Given the description of an element on the screen output the (x, y) to click on. 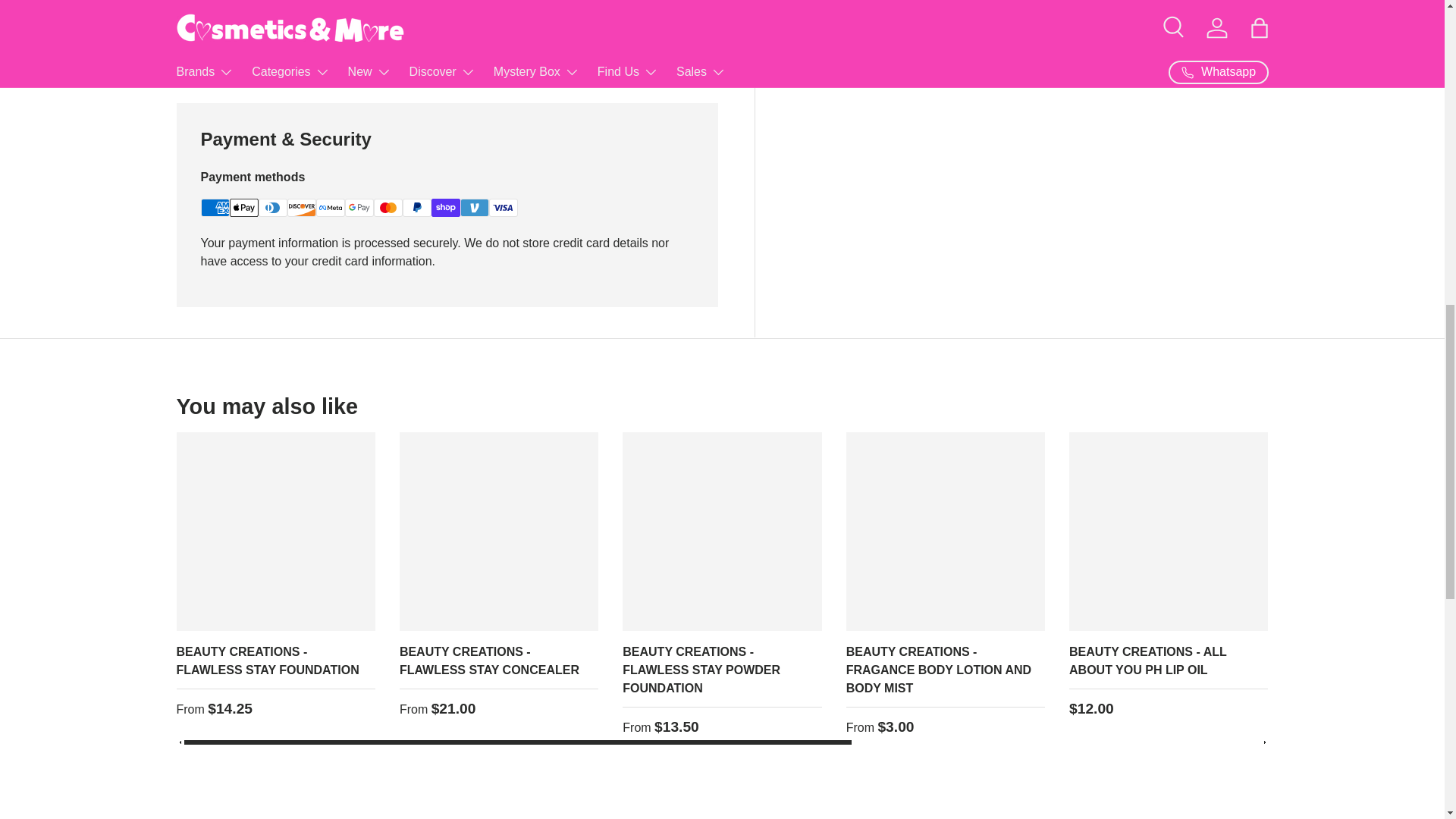
American Express (214, 208)
Apple Pay (242, 208)
